Given the description of an element on the screen output the (x, y) to click on. 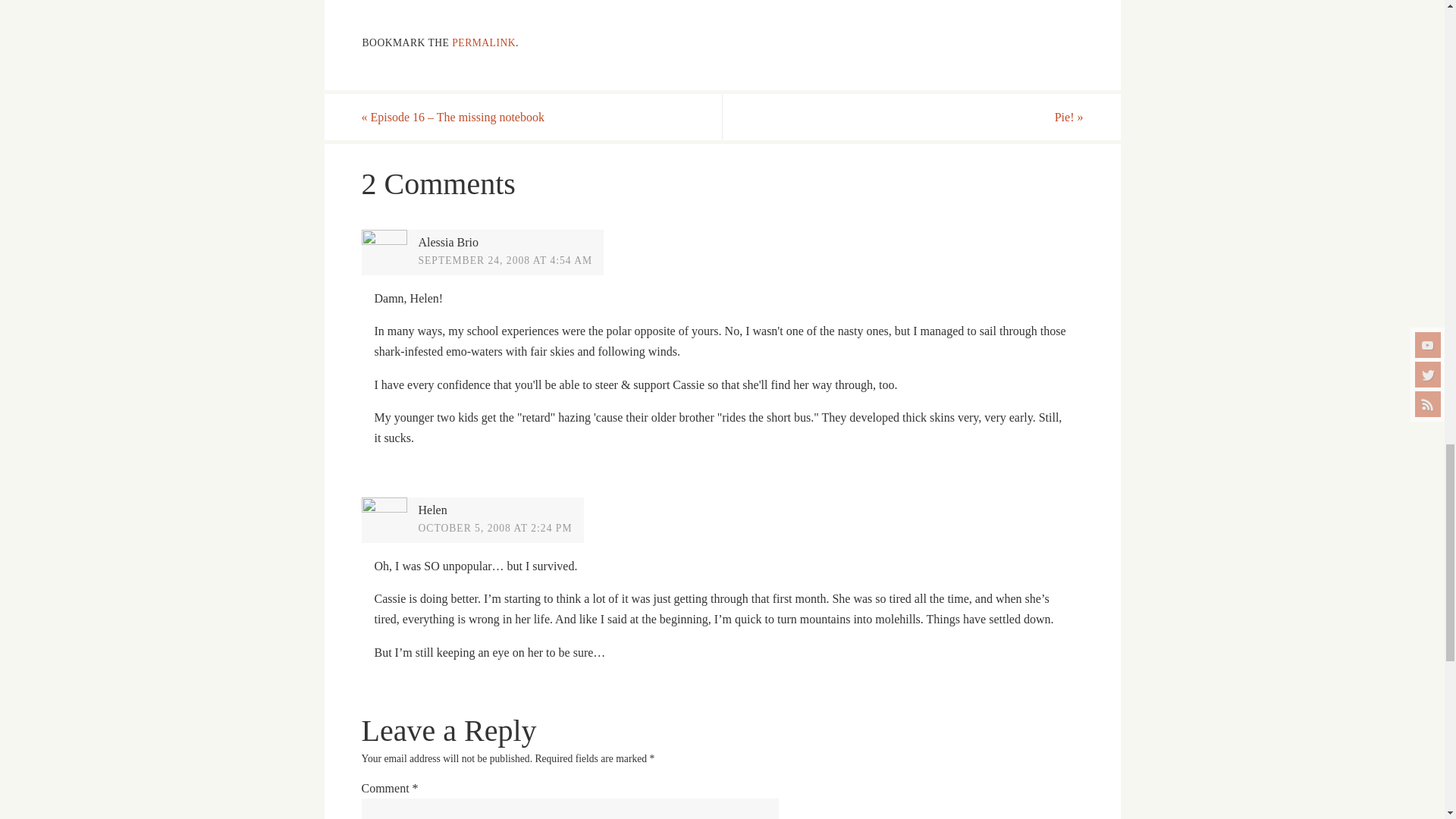
PERMALINK (483, 42)
SEPTEMBER 24, 2008 AT 4:54 AM (505, 260)
OCTOBER 5, 2008 AT 2:24 PM (495, 527)
Permalink to Miss Unpopularity 1987 (483, 42)
